Given the description of an element on the screen output the (x, y) to click on. 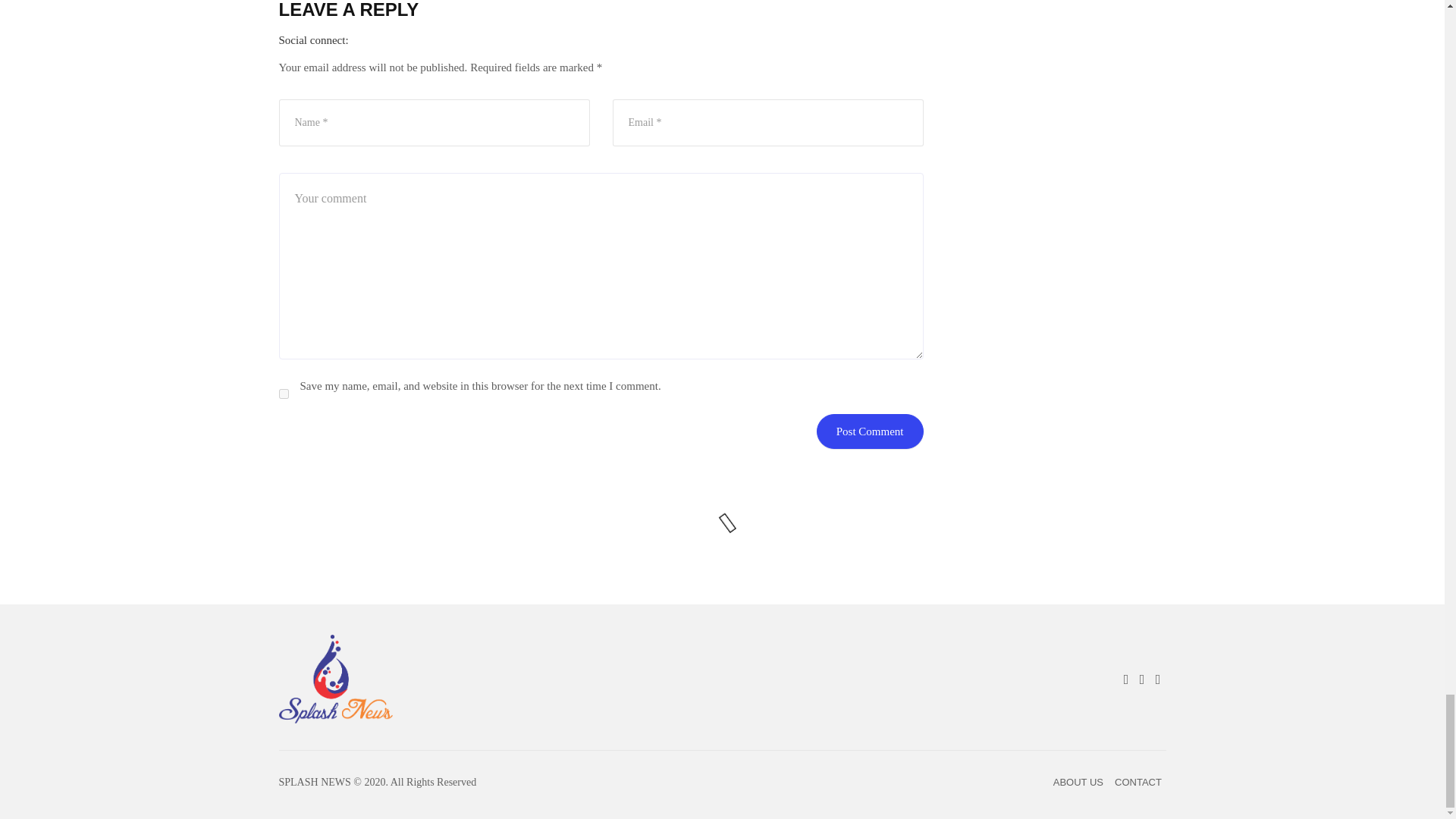
Post Comment (869, 431)
